Given the description of an element on the screen output the (x, y) to click on. 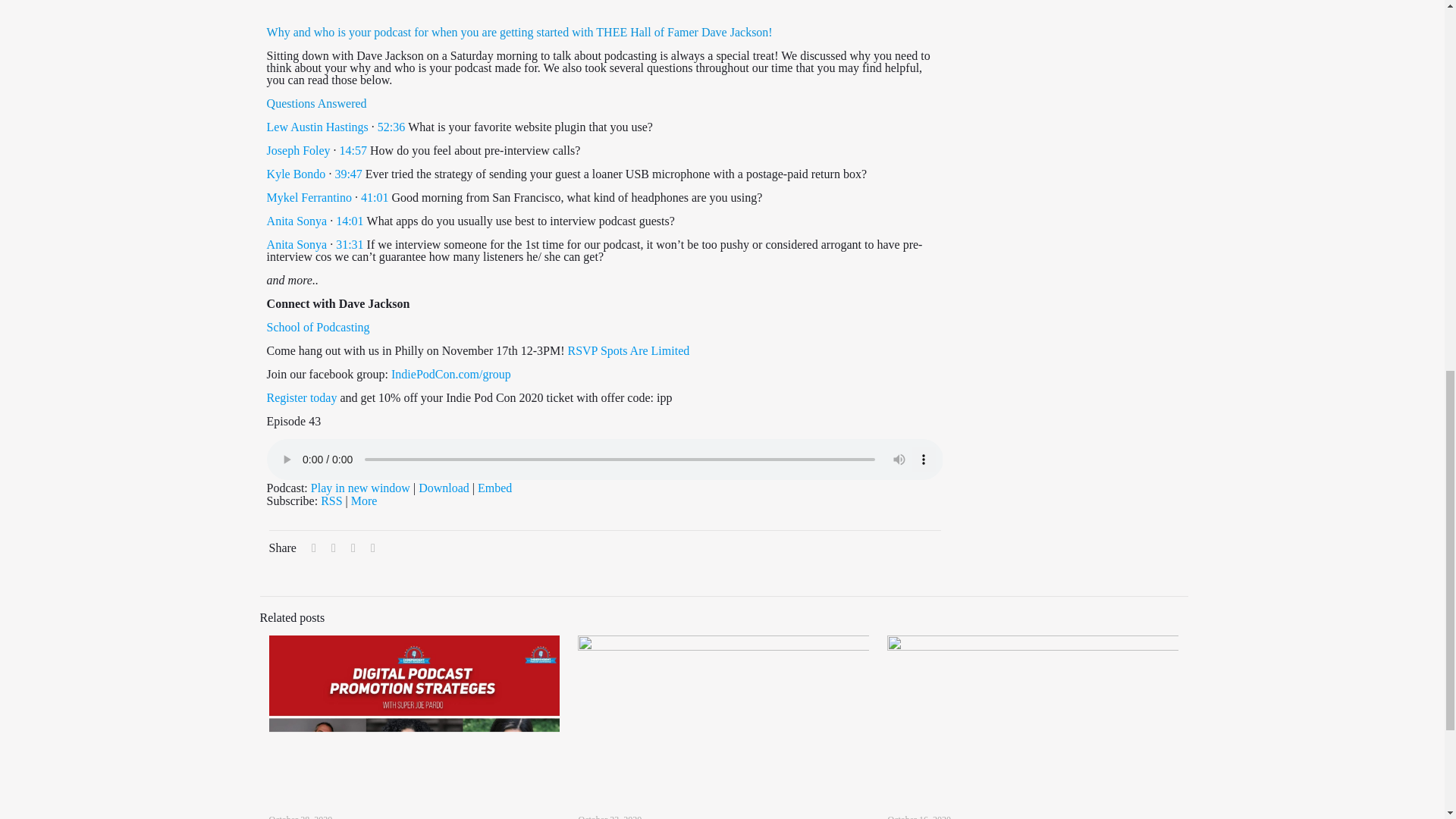
More (363, 500)
14:57 (352, 150)
39:47 (347, 173)
Embed (494, 487)
Lew Austin Hastings (317, 126)
Play in new window (360, 487)
52:36 (390, 126)
Kyle Bondo (296, 173)
Play in new window (360, 487)
